Given the description of an element on the screen output the (x, y) to click on. 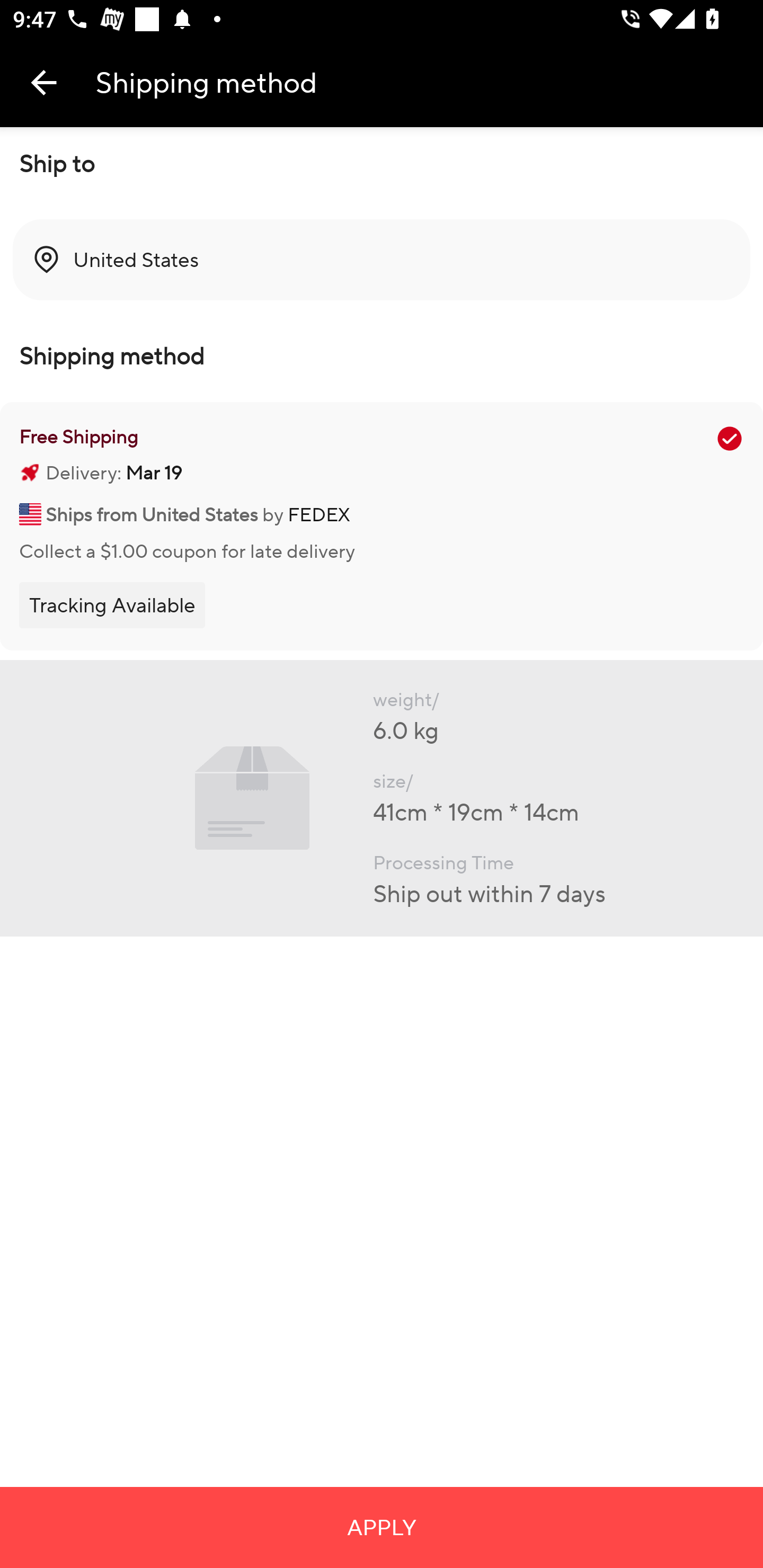
 United States (381, 260)
APPLY (381, 1527)
